Given the description of an element on the screen output the (x, y) to click on. 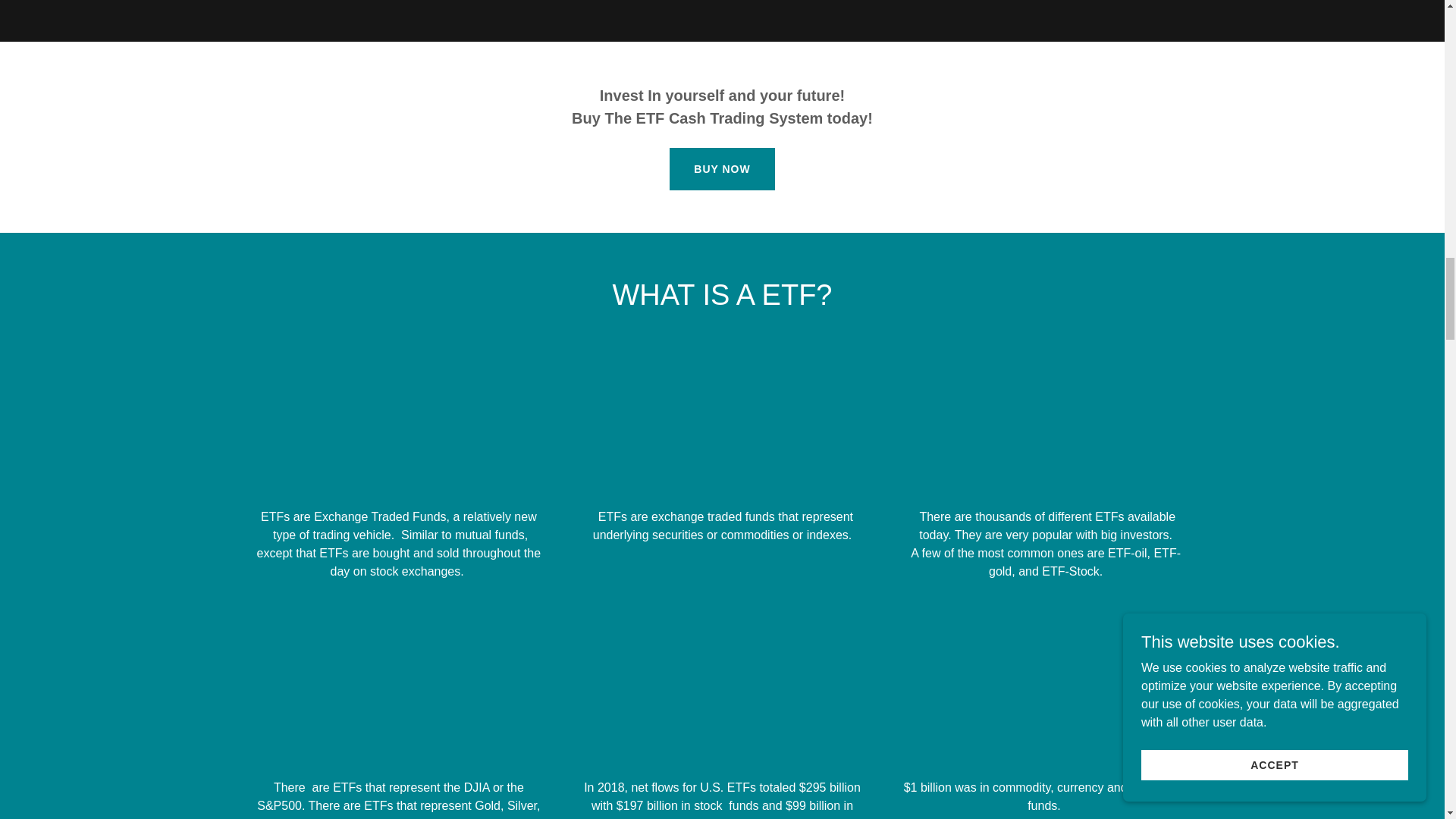
BUY NOW (721, 169)
